Given the description of an element on the screen output the (x, y) to click on. 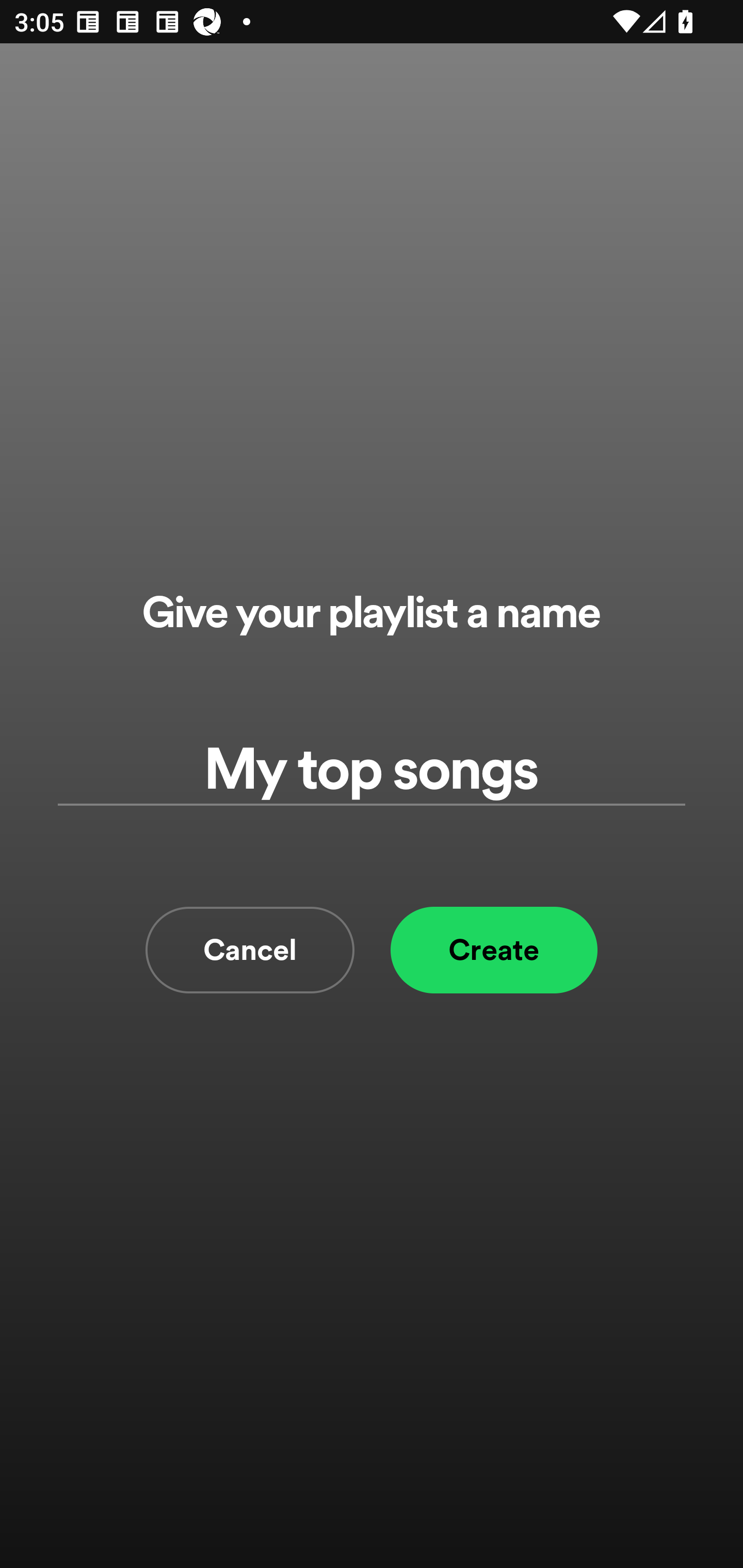
My top songs Add a playlist name (371, 769)
Cancel (249, 950)
Create (493, 950)
